Given the description of an element on the screen output the (x, y) to click on. 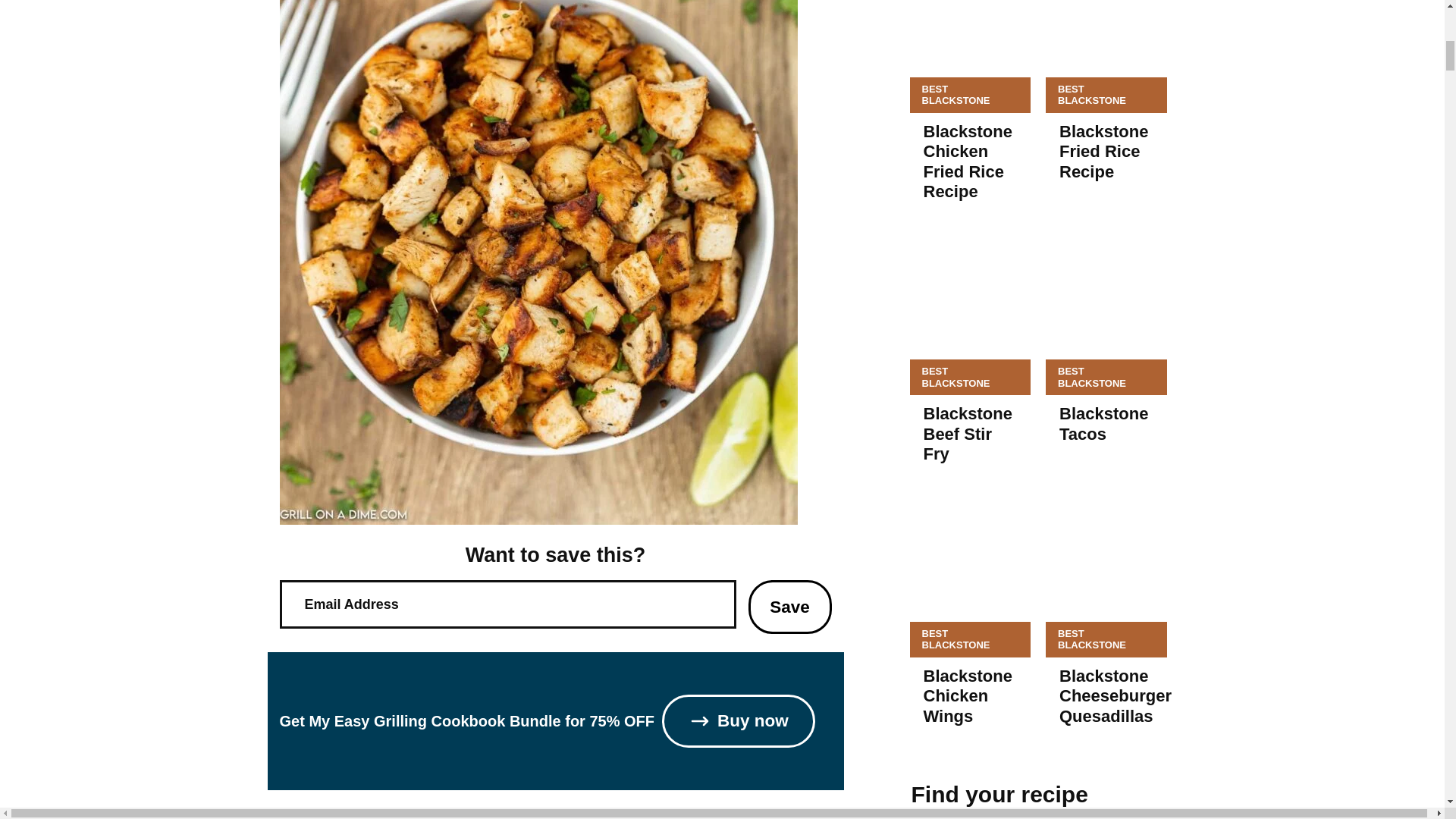
Buy now (738, 720)
Save (789, 606)
